Given the description of an element on the screen output the (x, y) to click on. 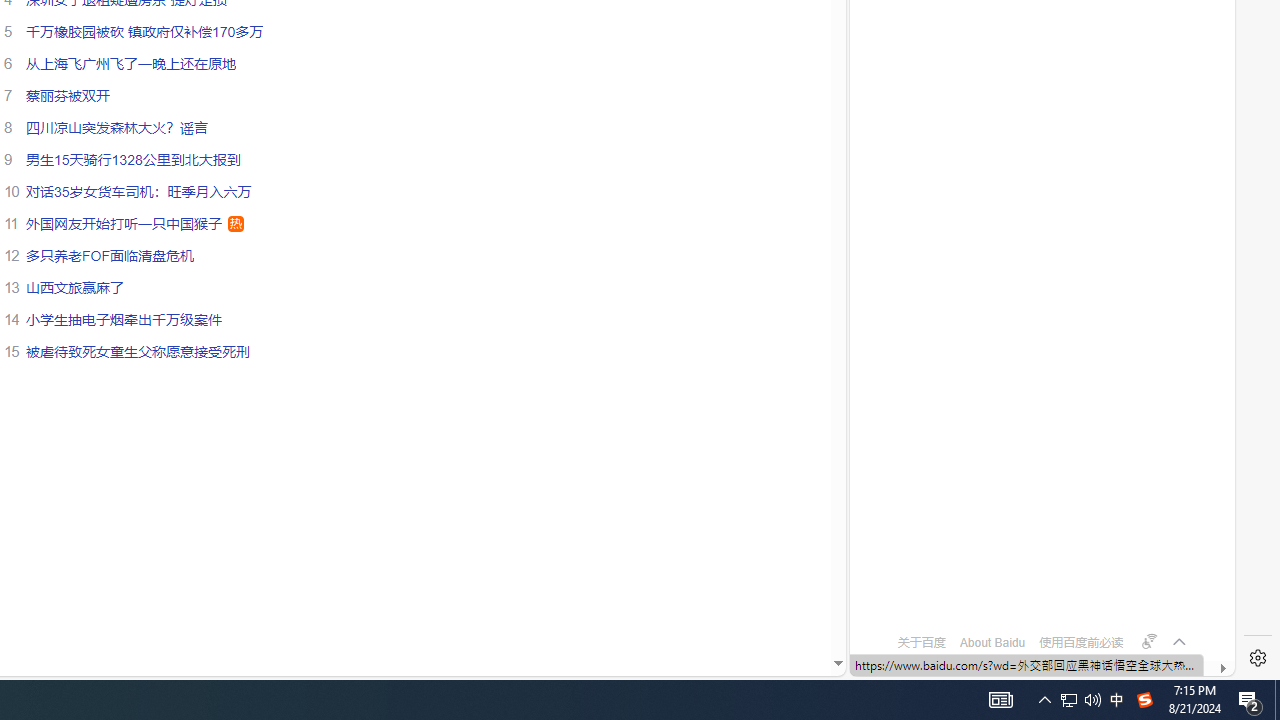
OFTV (1034, 587)
